Given the description of an element on the screen output the (x, y) to click on. 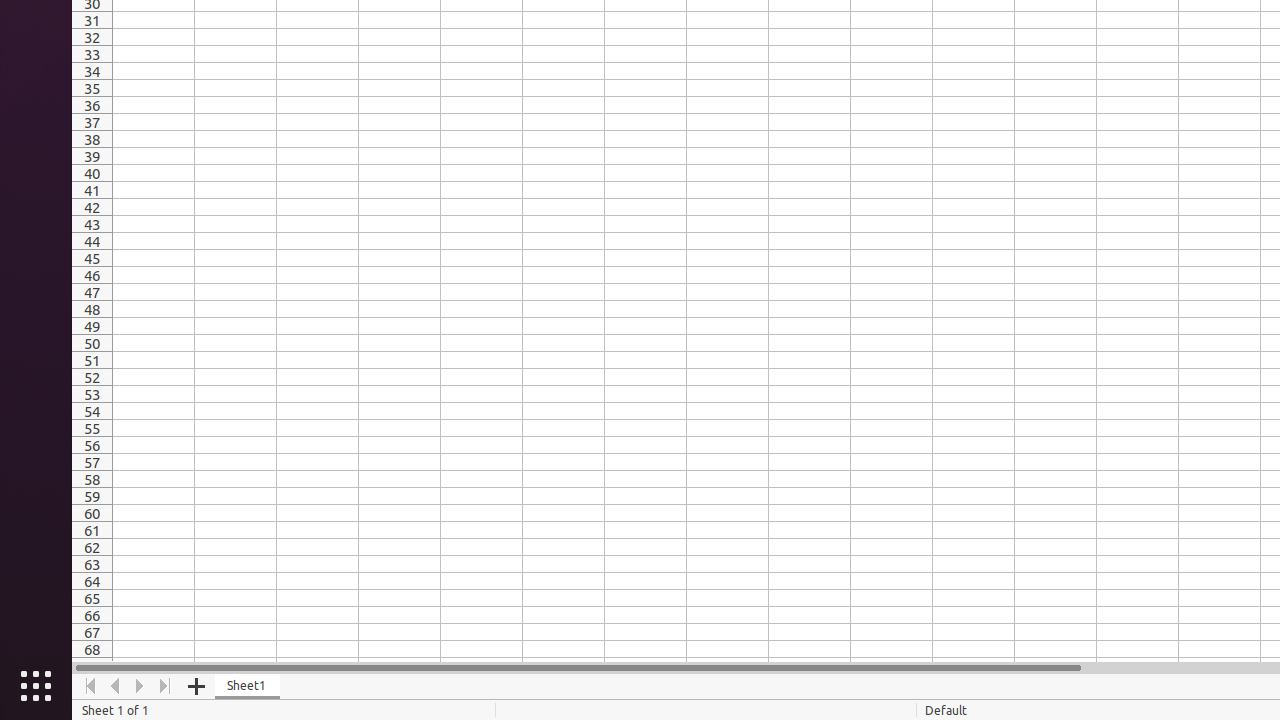
Sheet1 Element type: page-tab (247, 686)
Move To Home Element type: push-button (90, 686)
Move Right Element type: push-button (140, 686)
Move To End Element type: push-button (165, 686)
Move Left Element type: push-button (115, 686)
